Given the description of an element on the screen output the (x, y) to click on. 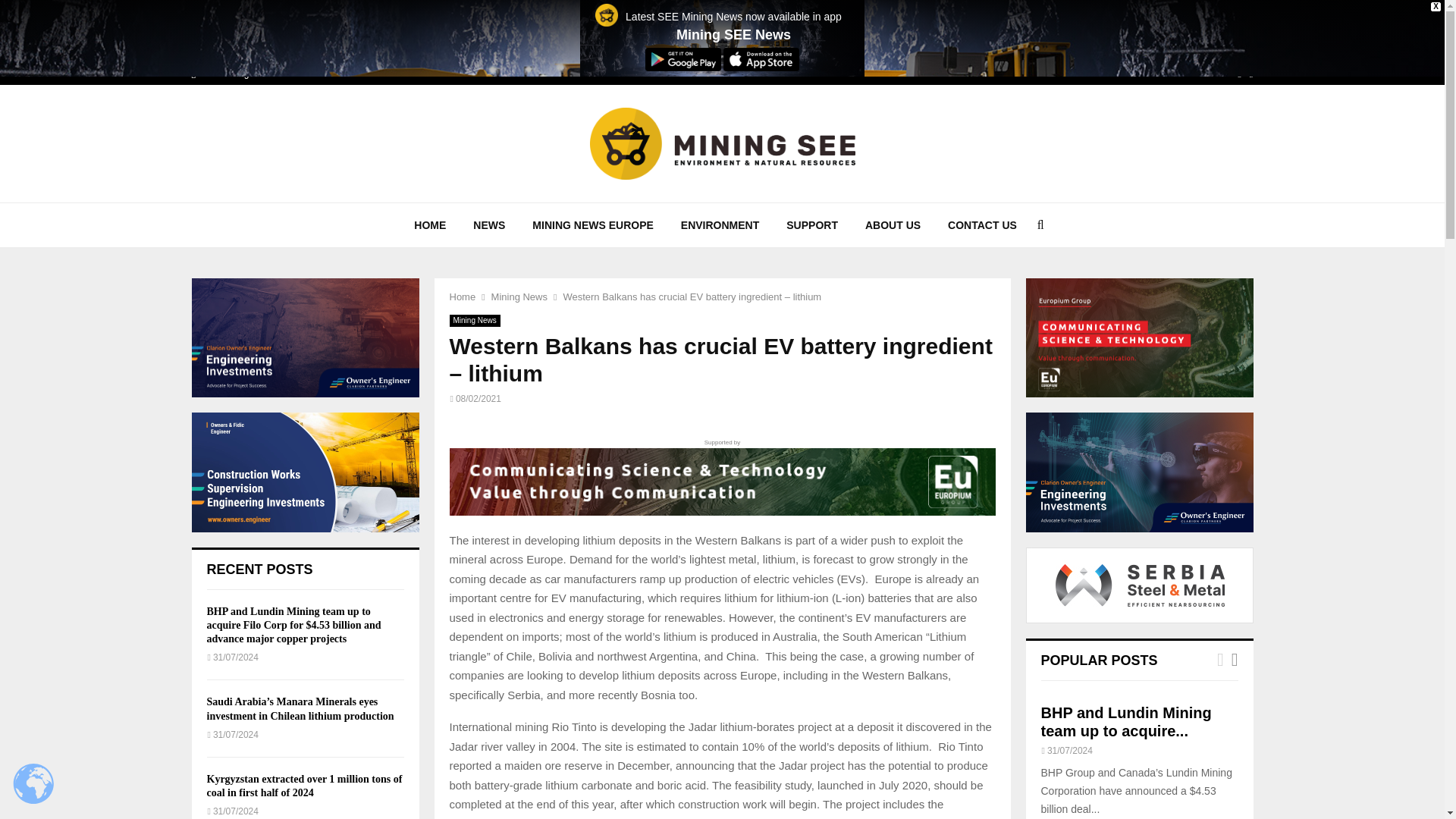
HOME (430, 225)
Home (462, 296)
Mining News (519, 296)
NEWS (489, 225)
Supported by (721, 476)
Mining News (473, 320)
MINING NEWS EUROPE (592, 225)
SUPPORT (812, 225)
CONTACT US (982, 225)
ABOUT US (892, 225)
ENVIRONMENT (719, 225)
